Given the description of an element on the screen output the (x, y) to click on. 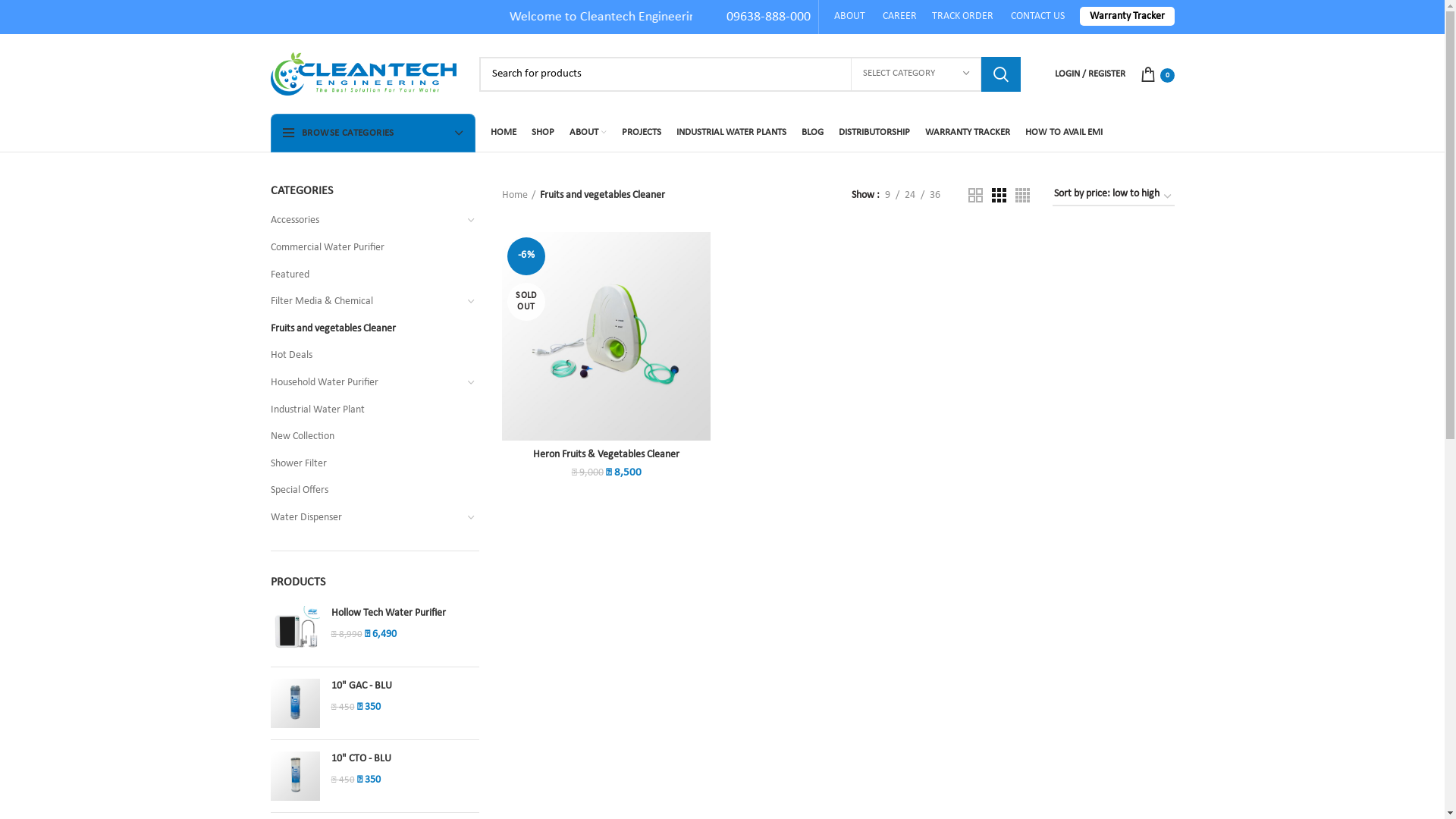
PROJECTS Element type: text (641, 132)
Hollow Tech Water Purifier Element type: text (404, 613)
SEARCH Element type: text (1000, 73)
Heron Fruits & Vegetables Cleaner Element type: text (606, 454)
Warranty Tracker  Element type: text (1126, 15)
SHOP Element type: text (542, 132)
0 Element type: text (1157, 74)
10" GAC - BLU Element type: text (404, 685)
Hollow Tech Water Purifier Element type: hover (294, 630)
BLOG Element type: text (811, 132)
10" CTO - BLU Element type: text (404, 758)
WARRANTY TRACKER Element type: text (967, 132)
Filter Media & Chemical Element type: text (364, 301)
DISTRIBUTORSHIP Element type: text (874, 132)
CAREER Element type: text (899, 15)
36 Element type: text (933, 195)
10" CTO - BLU Element type: hover (294, 775)
HOME Element type: text (502, 132)
SELECT CATEGORY Element type: text (915, 73)
-6%
SOLD OUT Element type: text (606, 336)
Hot Deals Element type: text (364, 355)
Shower Filter Element type: text (364, 463)
Search for products Element type: hover (749, 73)
Water Dispenser Element type: text (364, 517)
INDUSTRIAL WATER PLANTS Element type: text (730, 132)
9 Element type: text (887, 195)
ABOUT Element type: text (587, 132)
Featured Element type: text (364, 274)
TRACK ORDER Element type: text (961, 15)
LOGIN / REGISTER Element type: text (1089, 74)
Commercial Water Purifier Element type: text (364, 247)
ABOUT Element type: text (850, 15)
Home Element type: text (518, 195)
24 Element type: text (909, 195)
Special Offers Element type: text (364, 490)
Accessories Element type: text (364, 220)
New Collection Element type: text (364, 436)
CONTACT US Element type: text (1036, 15)
10" GAC - BLU Element type: hover (294, 703)
HOW TO AVAIL EMI Element type: text (1063, 132)
Industrial Water Plant Element type: text (364, 409)
Fruits and vegetables Cleaner Element type: text (364, 328)
Household Water Purifier Element type: text (364, 382)
